Given the description of an element on the screen output the (x, y) to click on. 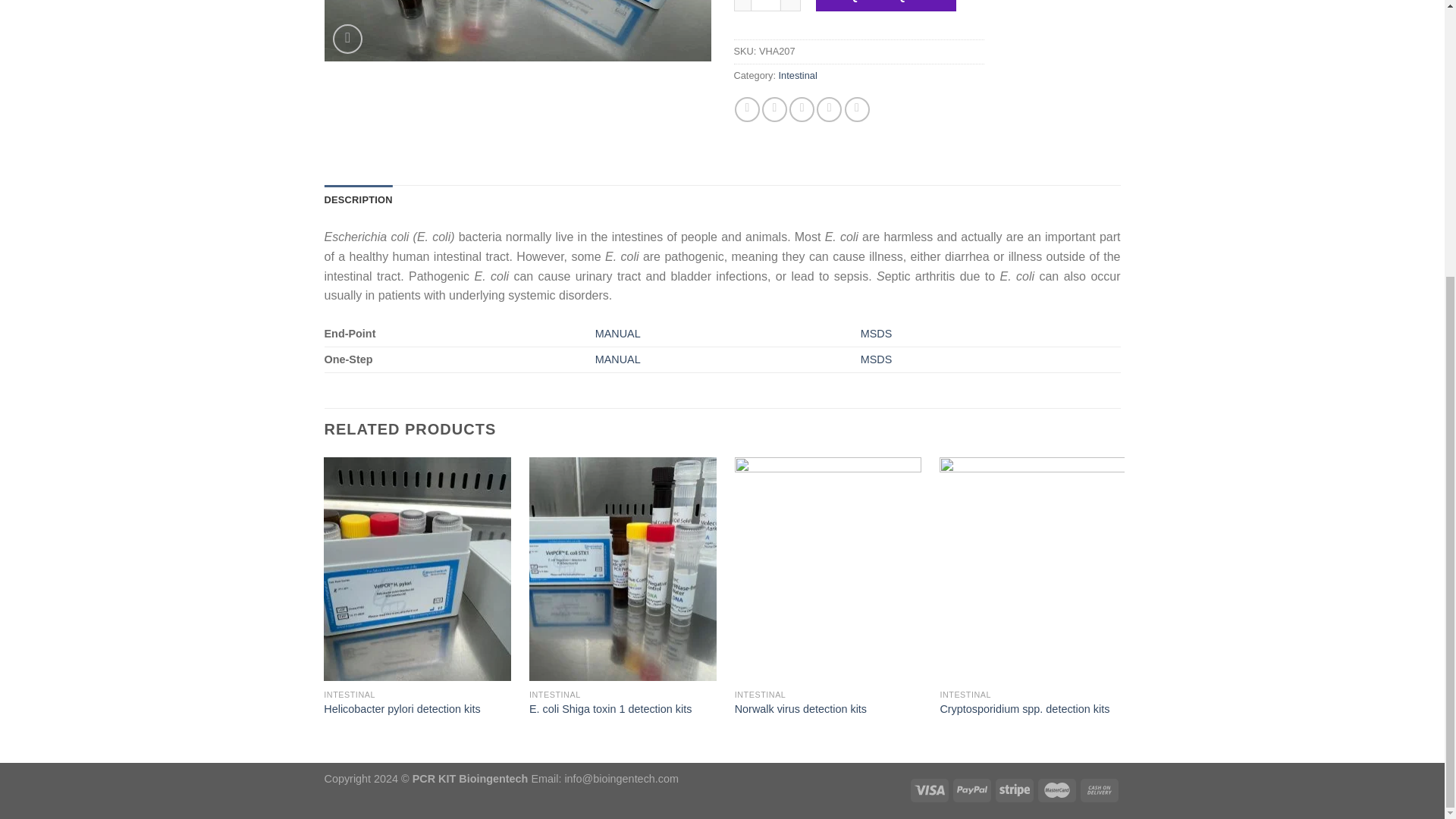
REQUEST QUOTE (885, 5)
MSDS (876, 333)
Escherichia coli (517, 30)
Share on Facebook (747, 109)
1 (765, 5)
Zoom (347, 39)
Share on Twitter (774, 109)
MANUAL (617, 333)
DESCRIPTION (358, 200)
MANUAL (617, 358)
Email to a Friend (801, 109)
Intestinal (797, 75)
Qty (765, 5)
- (742, 5)
